Given the description of an element on the screen output the (x, y) to click on. 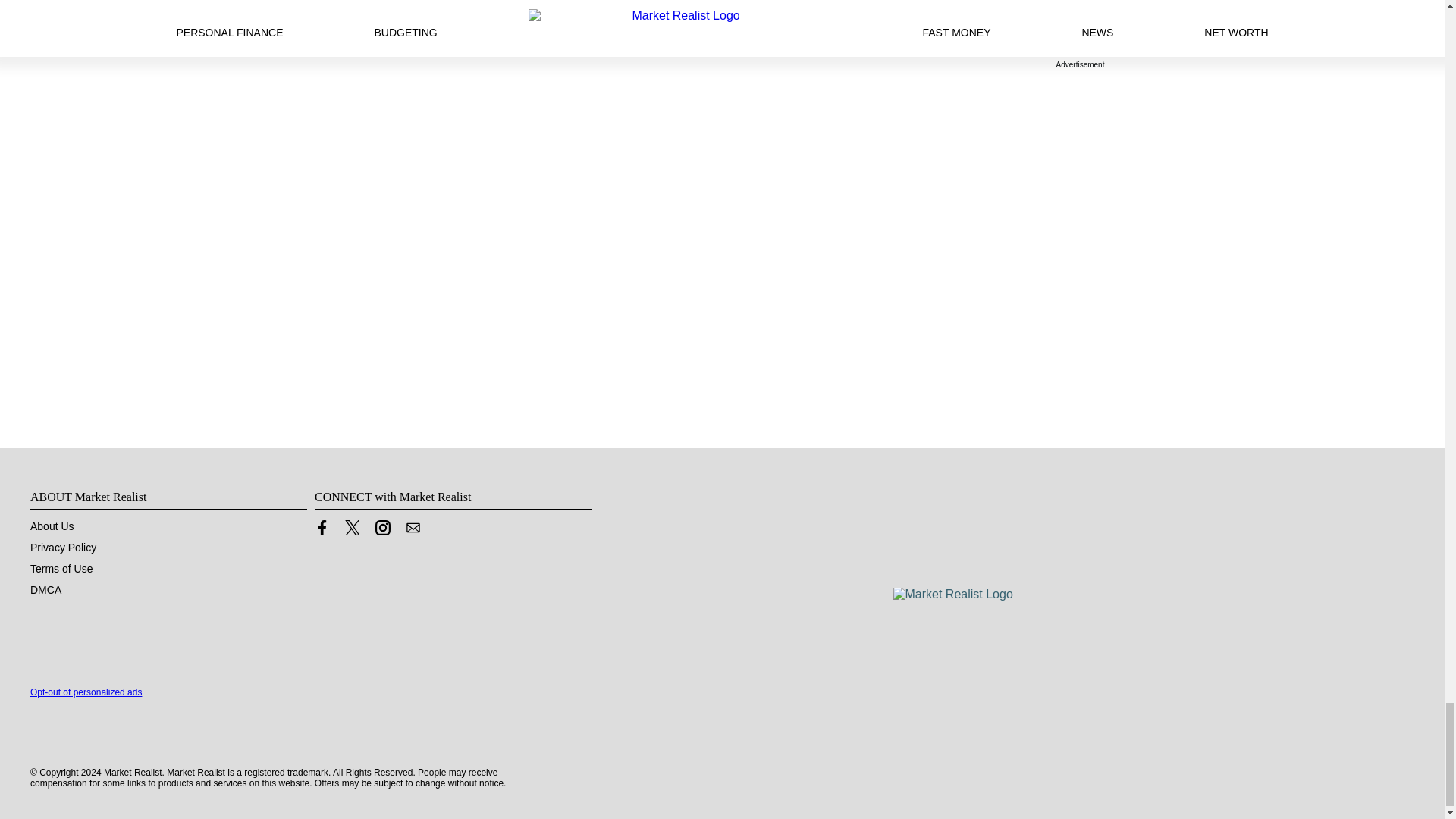
Terms of Use (61, 568)
Contact us by Email (413, 527)
Privacy Policy (63, 547)
Contact us by Email (413, 531)
Terms of Use (61, 568)
Opt-out of personalized ads (85, 692)
About Us (52, 526)
DMCA (45, 589)
Link to Facebook (322, 527)
About Us (52, 526)
